Given the description of an element on the screen output the (x, y) to click on. 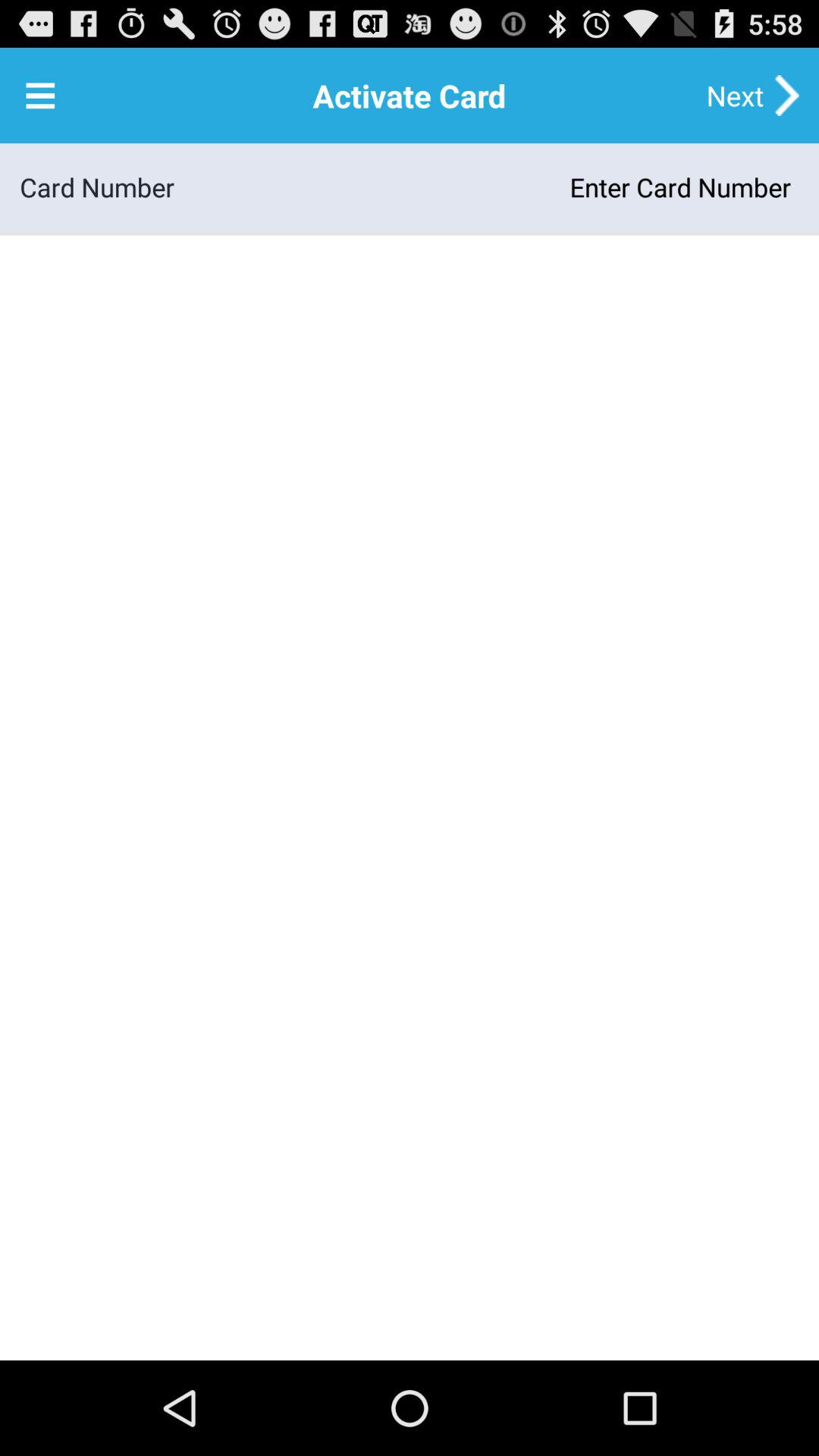
click icon next to the activate card app (39, 95)
